Given the description of an element on the screen output the (x, y) to click on. 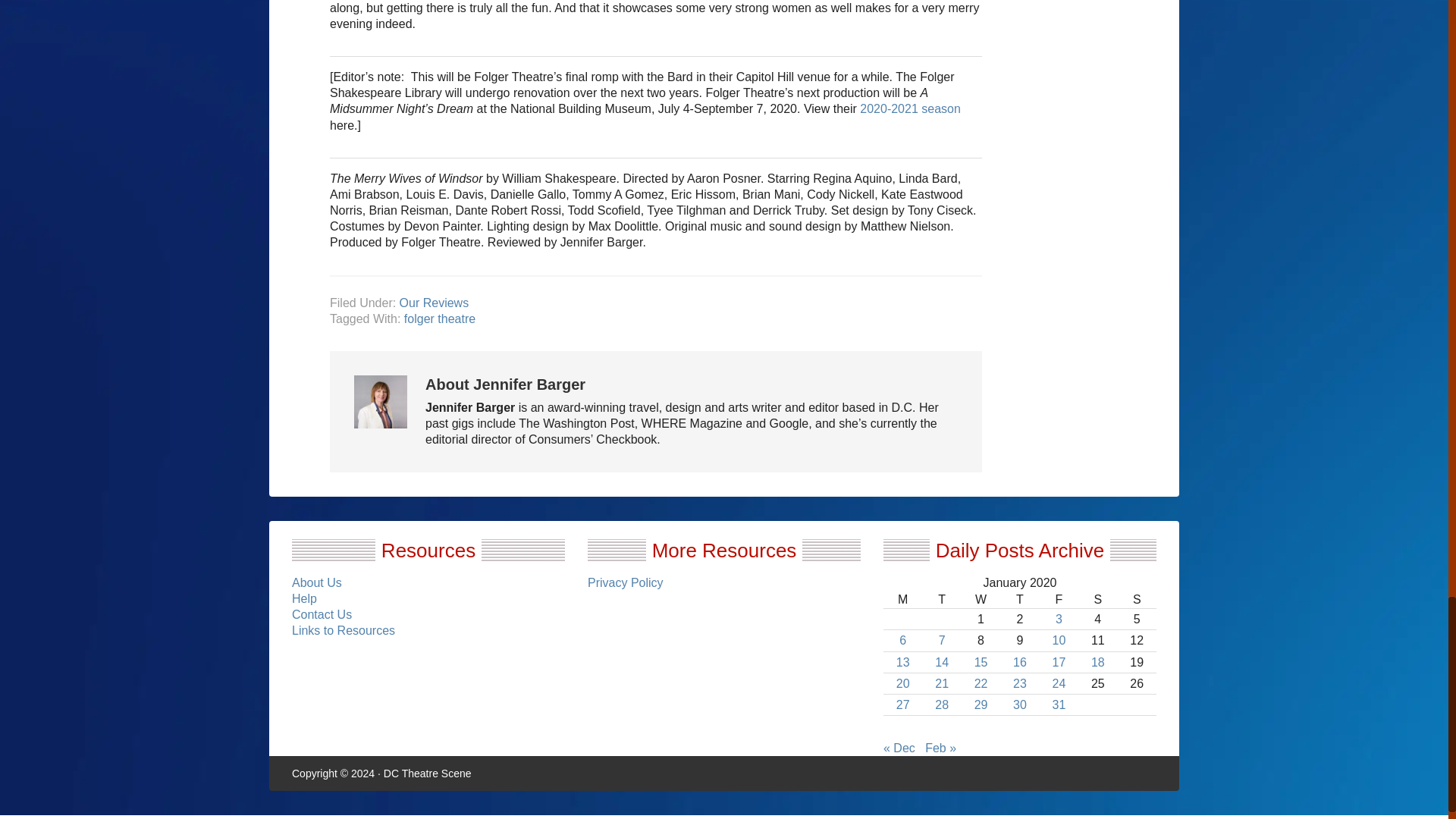
Friday (1058, 599)
Links to Resources (343, 630)
About Us (317, 582)
Contact Us (322, 614)
Monday (902, 599)
Tuesday (940, 599)
2020-2021 season (910, 108)
Saturday (1097, 599)
Thursday (1019, 599)
Help (304, 598)
